Given the description of an element on the screen output the (x, y) to click on. 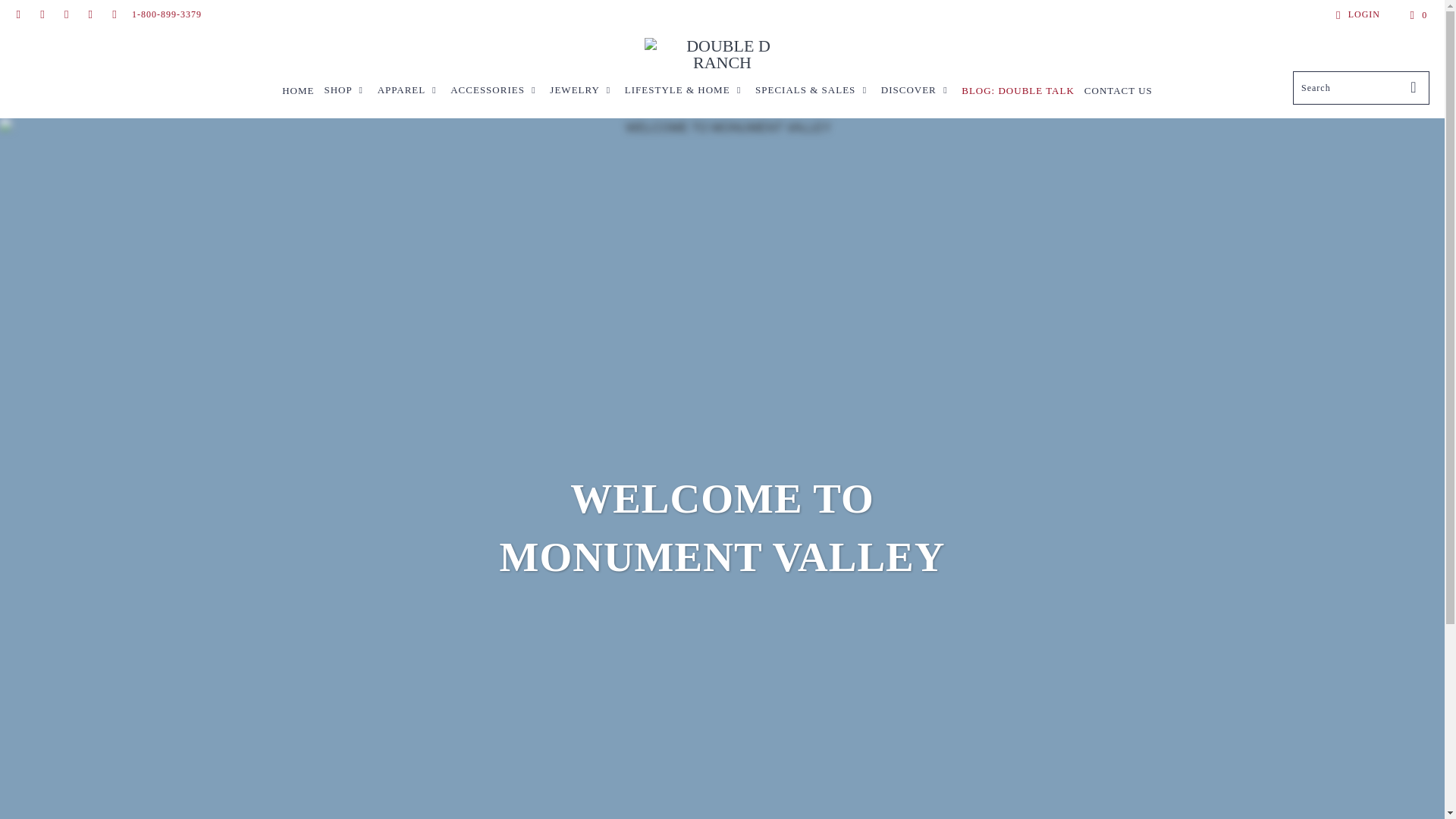
My Account  (1355, 14)
Double D Ranch on Facebook (41, 14)
Double D Ranch on Pinterest (89, 14)
Double D Ranch on Twitter (113, 14)
Email Double D Ranch (17, 14)
Double D Ranch (722, 54)
Double D Ranch on Instagram (65, 14)
